Given the description of an element on the screen output the (x, y) to click on. 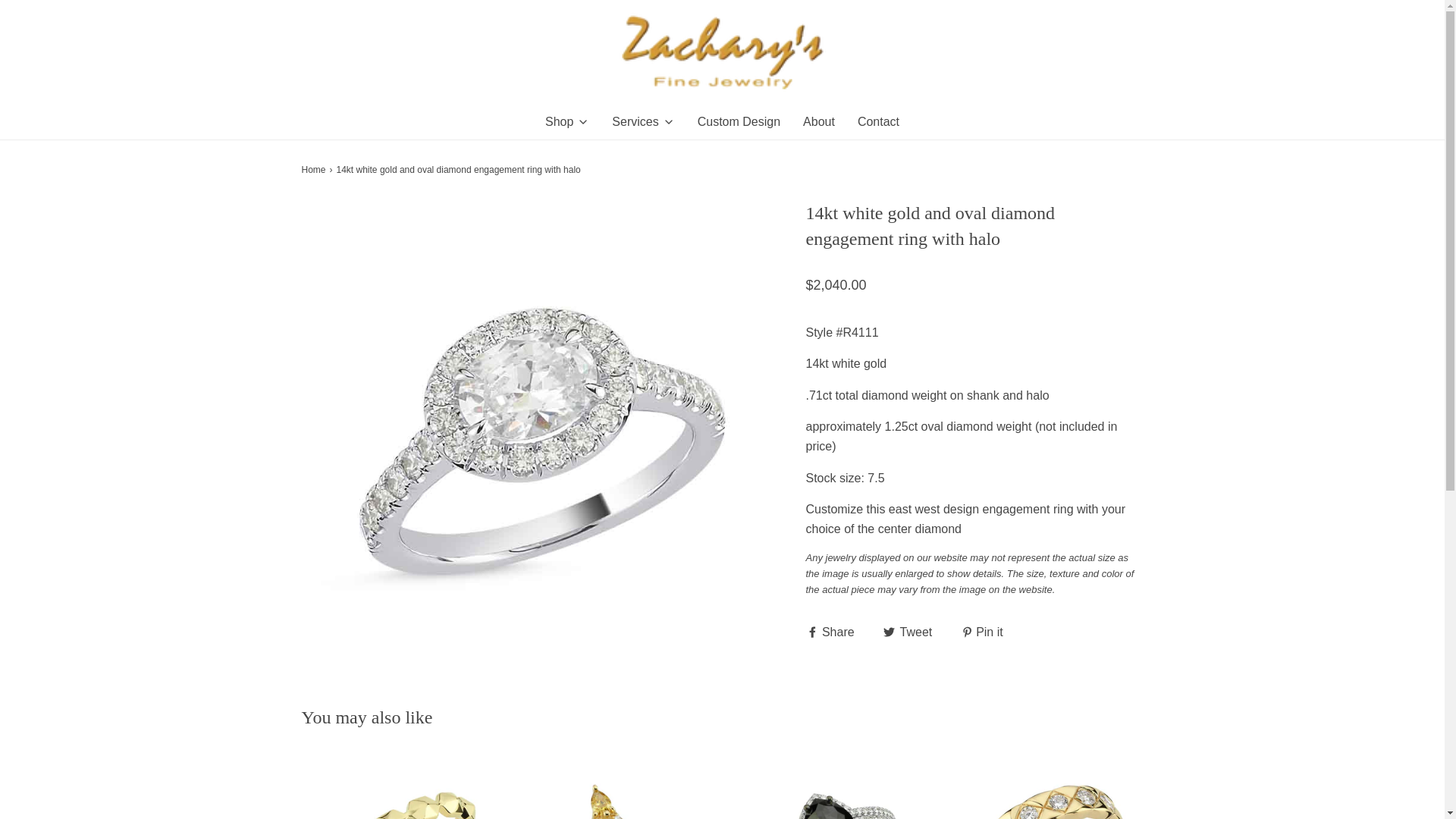
About (818, 121)
14Kt gold and diamond wedding band (1045, 785)
Share (832, 631)
Pin it (981, 631)
Services (642, 121)
14Kt gold, diamond and black diamond engagement ring trio (830, 785)
Home (315, 169)
Back to the frontpage (315, 169)
14Kt diamond and natural yellow diamond engagement ring trio (613, 785)
Shop (566, 121)
Tweet (909, 631)
14Kt gold wedding band (398, 785)
Custom Design (738, 121)
Contact (878, 121)
